Given the description of an element on the screen output the (x, y) to click on. 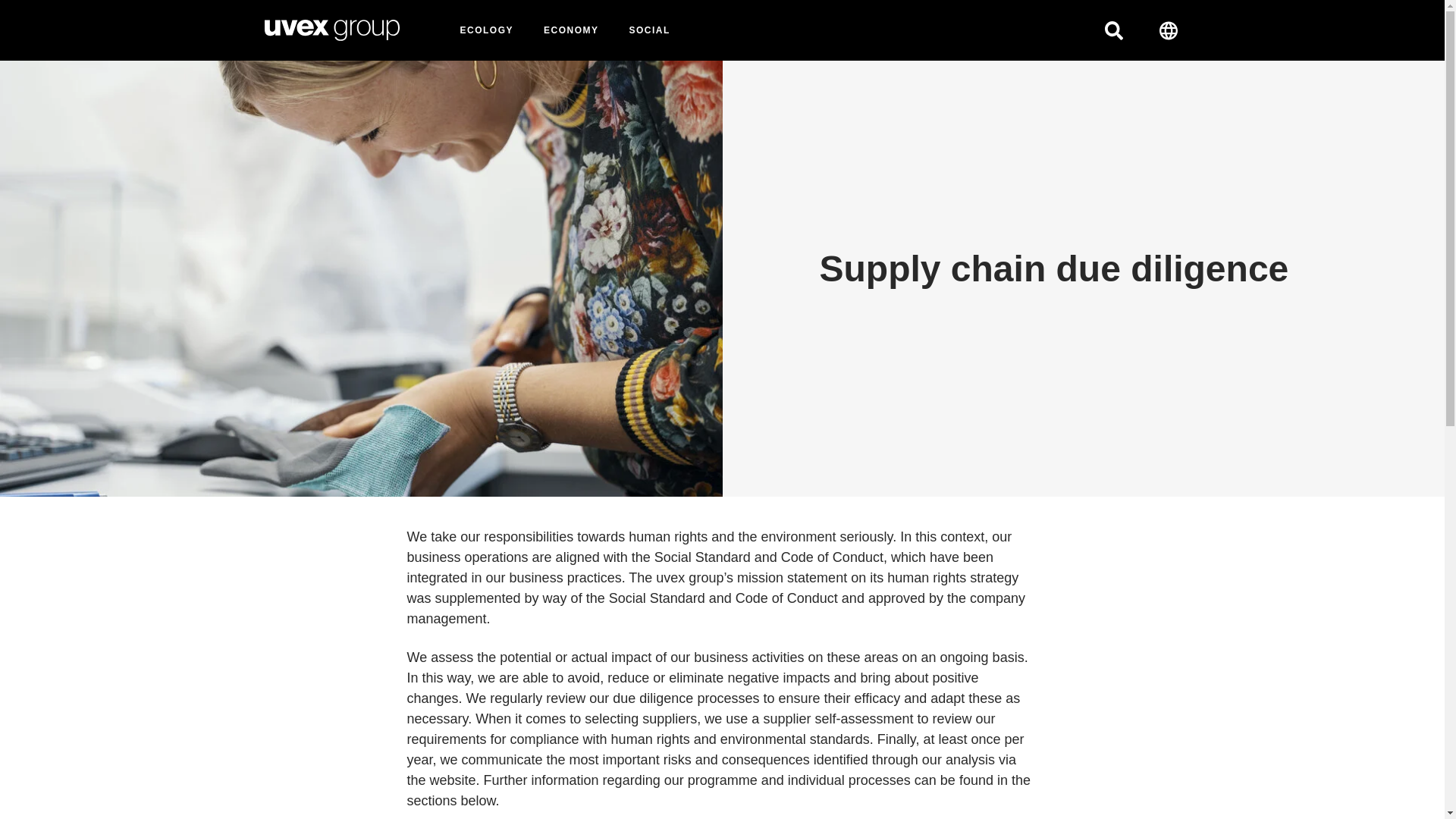
ECOLOGY (486, 39)
SOCIAL (648, 39)
ECONOMY (570, 39)
uvex group (330, 29)
